Given the description of an element on the screen output the (x, y) to click on. 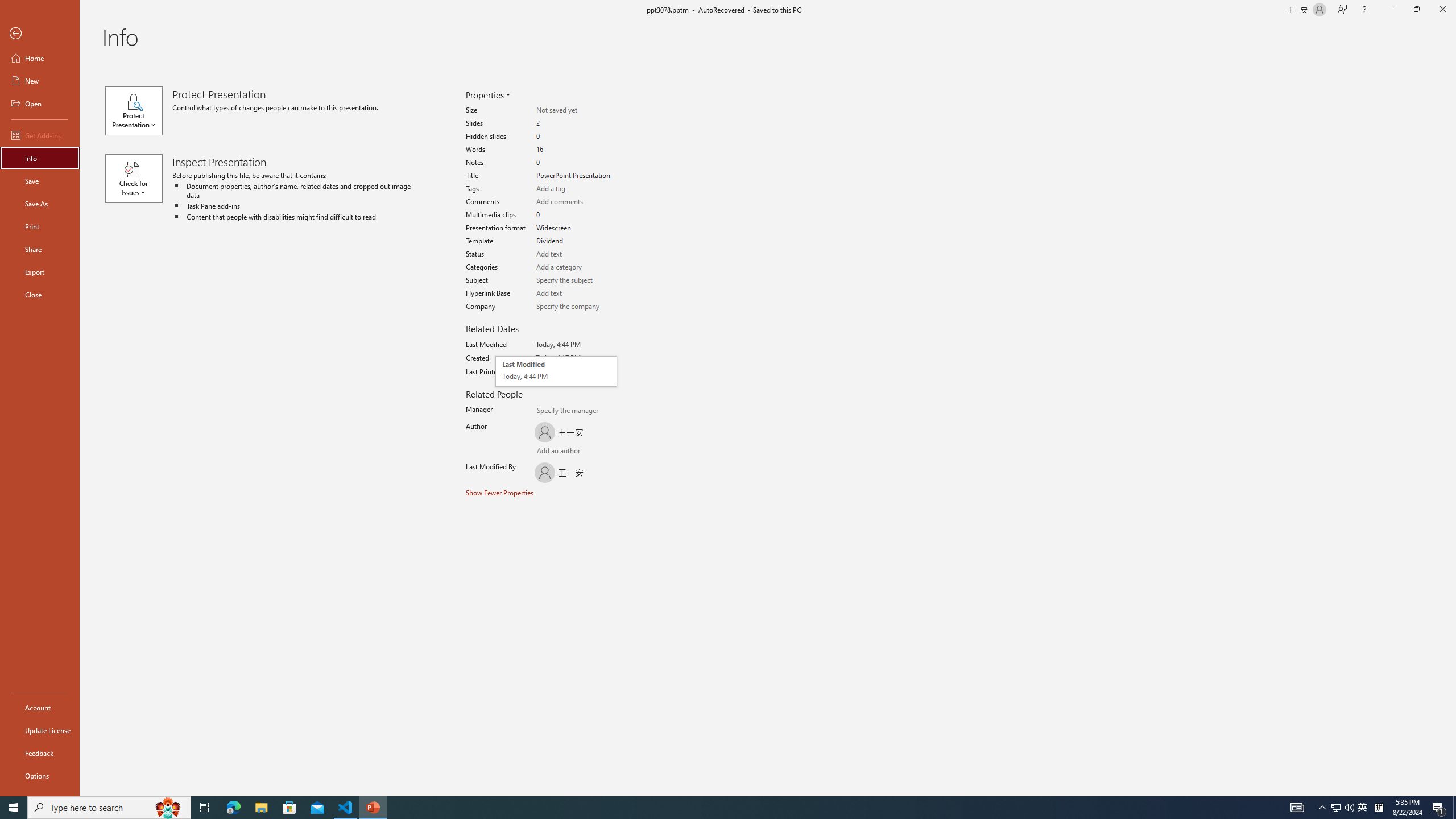
Feedback (40, 753)
